Given the description of an element on the screen output the (x, y) to click on. 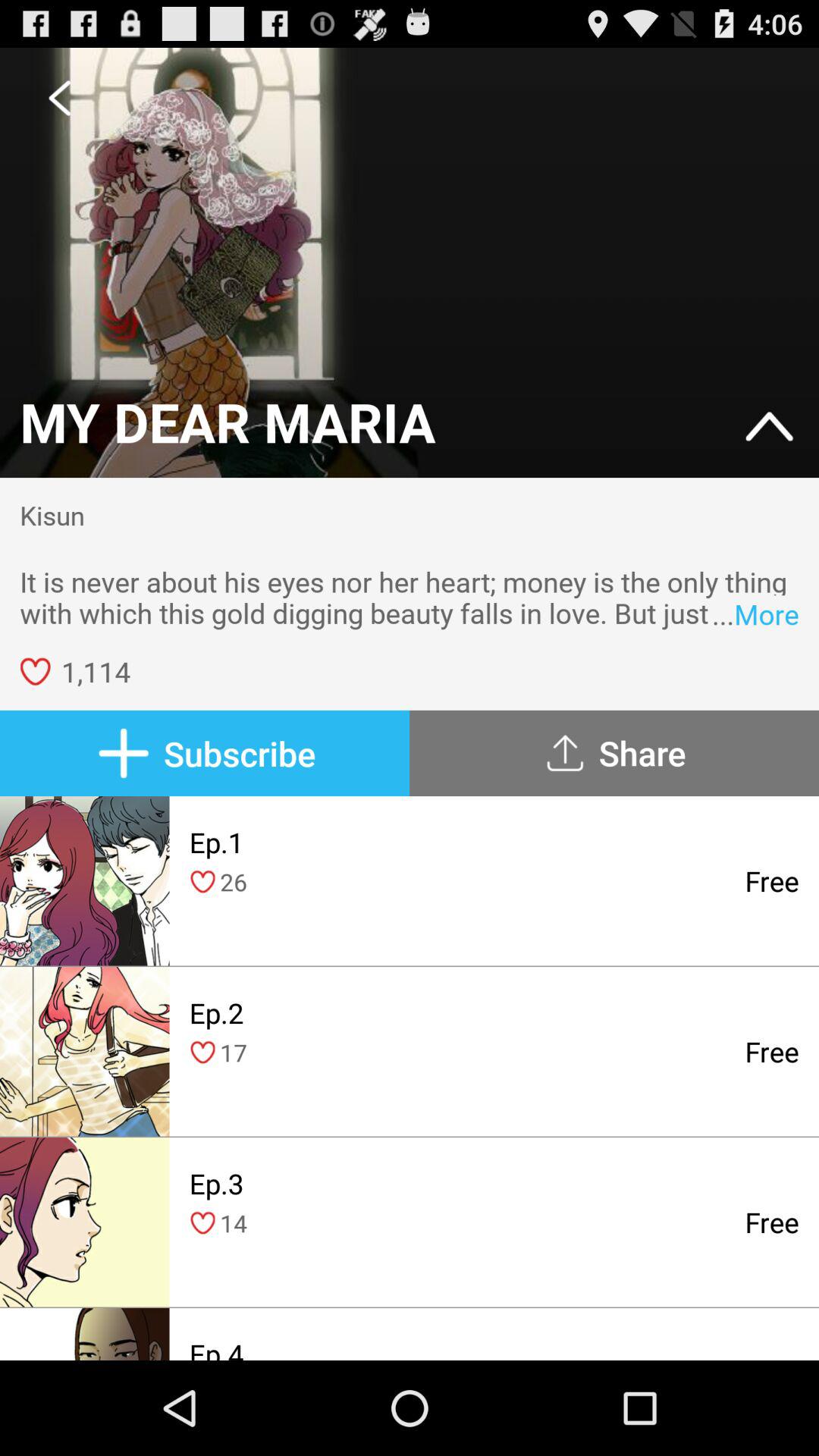
click icon next to subscribe icon (614, 753)
